Given the description of an element on the screen output the (x, y) to click on. 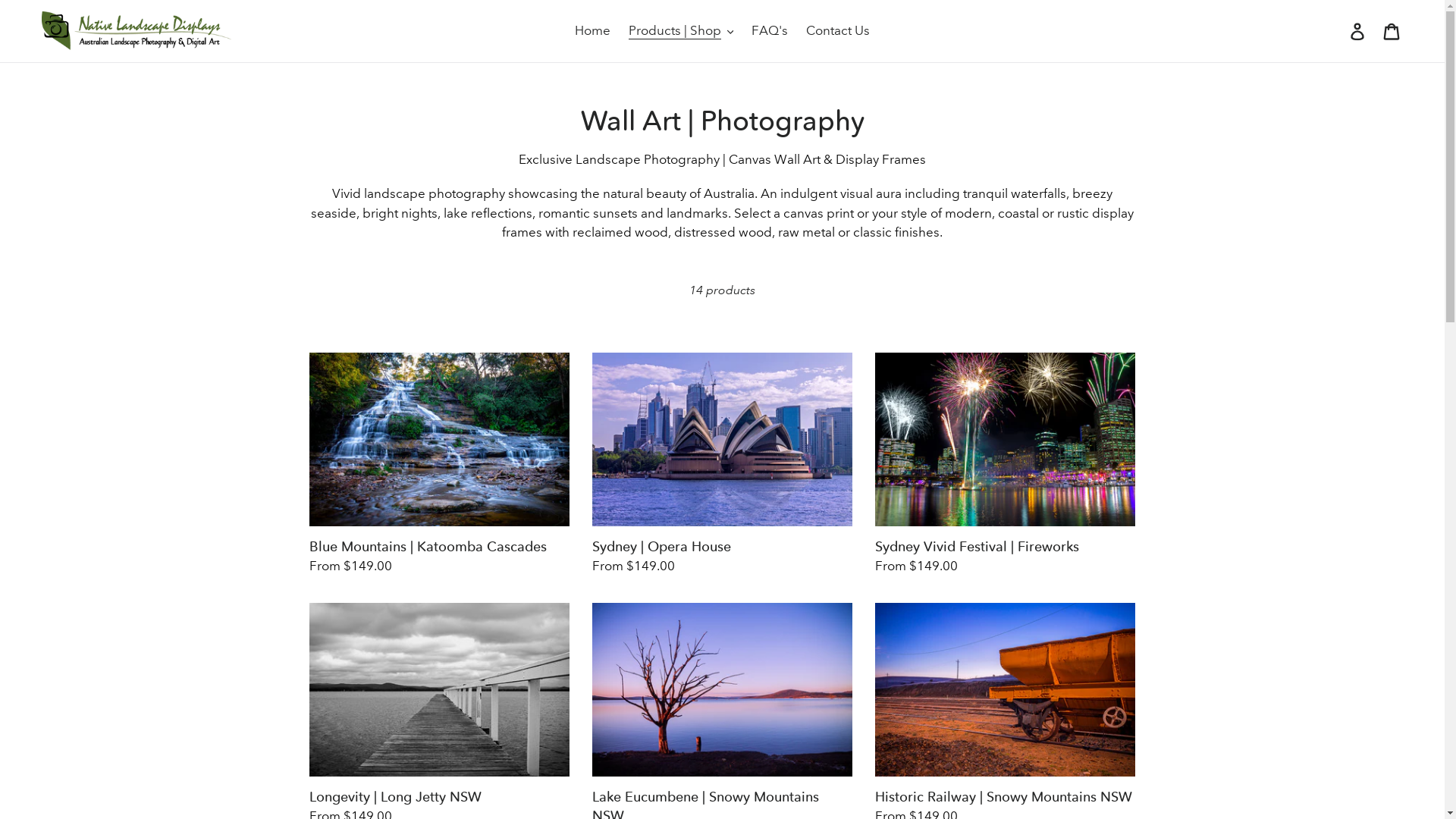
Blue Mountains | Katoomba Cascades Element type: text (439, 464)
Sydney Vivid Festival | Fireworks Element type: text (1005, 464)
Cart Element type: text (1392, 30)
Log in Element type: text (1358, 30)
Home Element type: text (592, 30)
Contact Us Element type: text (837, 30)
FAQ's Element type: text (769, 30)
Sydney | Opera House Element type: text (722, 464)
